Given the description of an element on the screen output the (x, y) to click on. 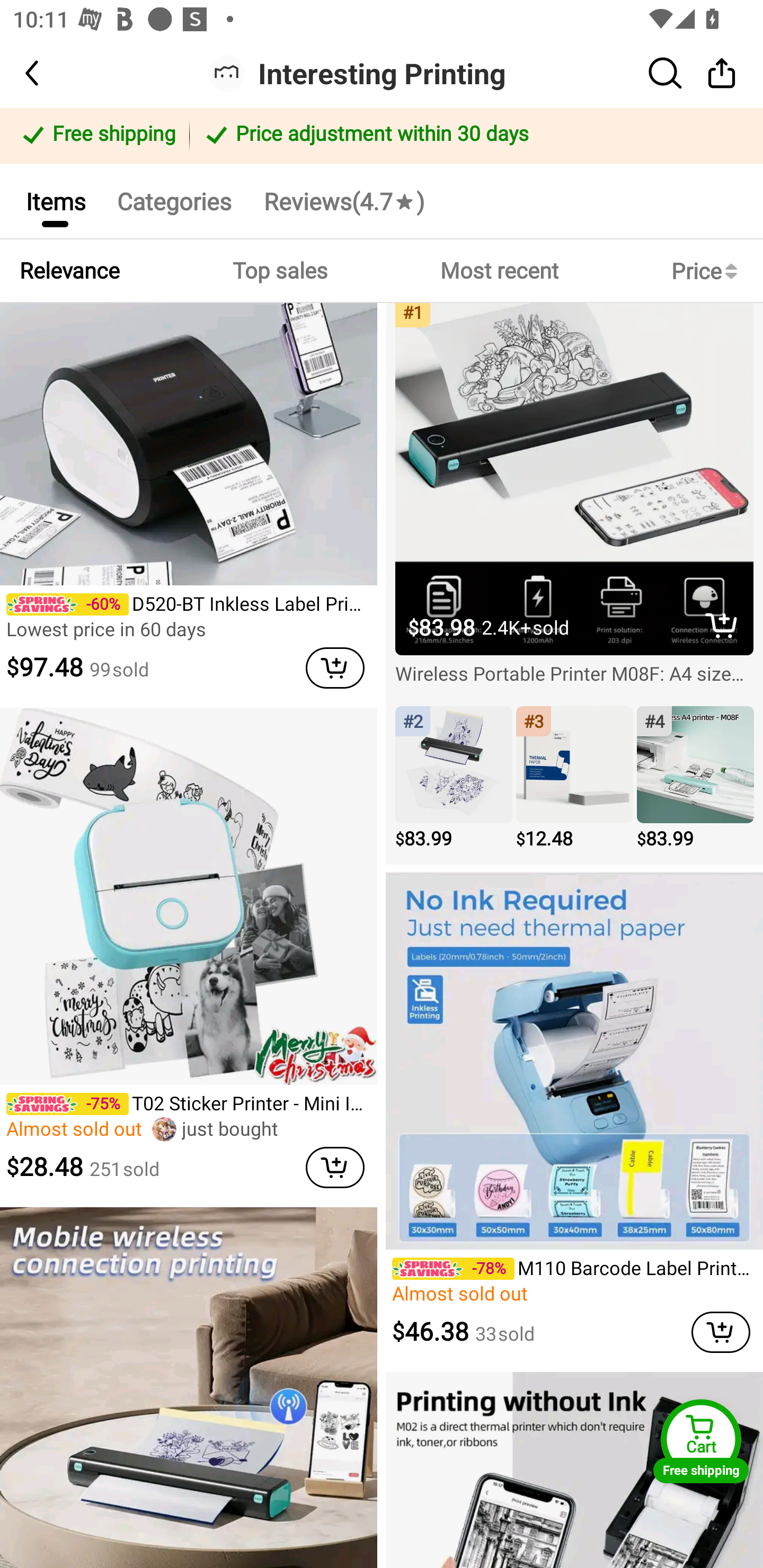
back (47, 72)
share (721, 72)
Free shipping (97, 135)
Price adjustment within 30 days (472, 135)
Items (55, 200)
Categories (174, 200)
Reviews(4.7 ) (343, 200)
Relevance (69, 270)
Top sales (279, 270)
Most recent (498, 270)
Price (707, 270)
delete (721, 624)
cart delete (334, 667)
#2 $83.99 (453, 778)
#3 $12.48 (574, 778)
#4 $83.99 (695, 778)
cart delete (334, 1167)
cart delete (720, 1331)
Cart Free shipping Cart (701, 1440)
